Given the description of an element on the screen output the (x, y) to click on. 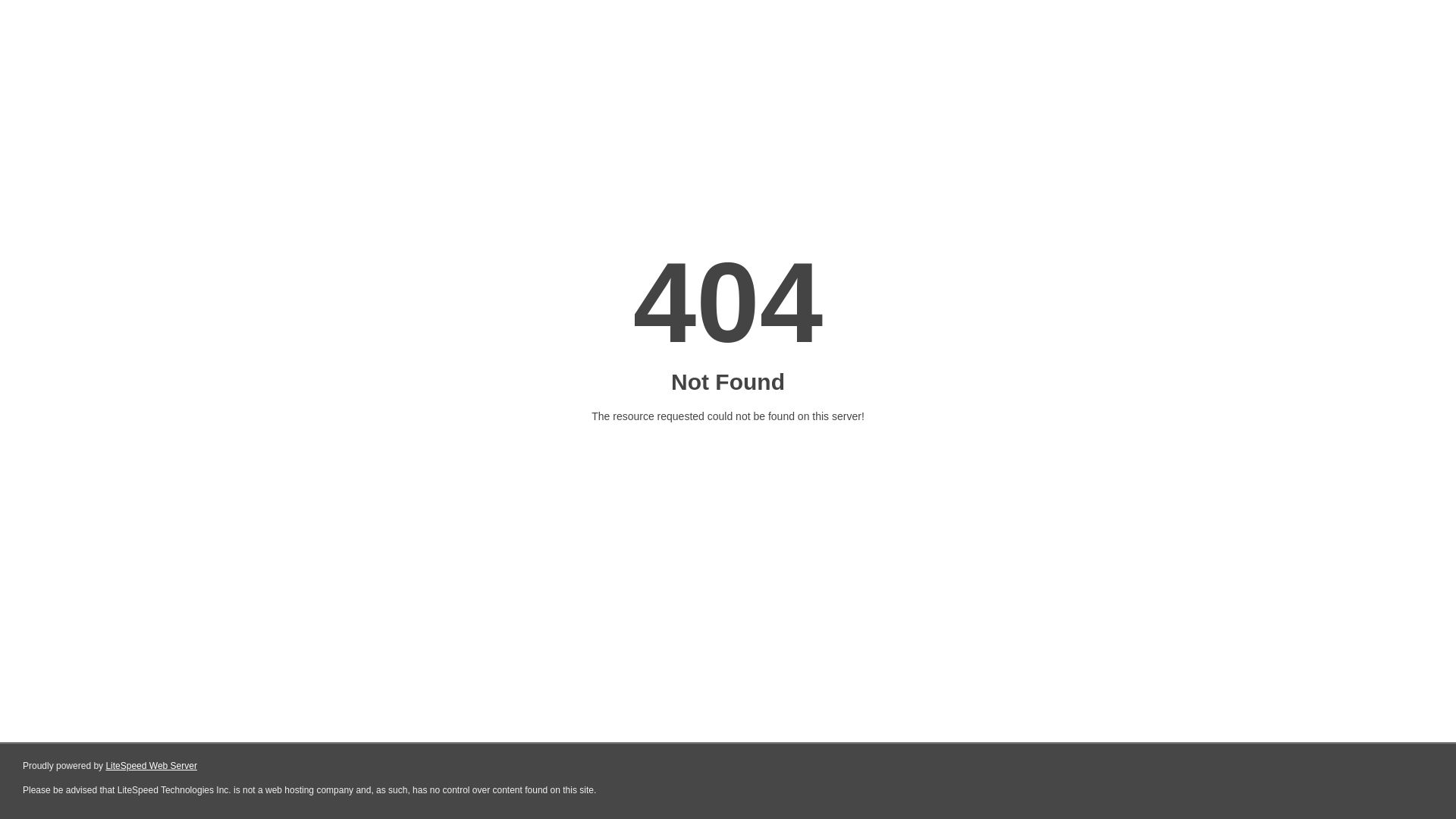
LiteSpeed Web Server Element type: text (151, 765)
